Given the description of an element on the screen output the (x, y) to click on. 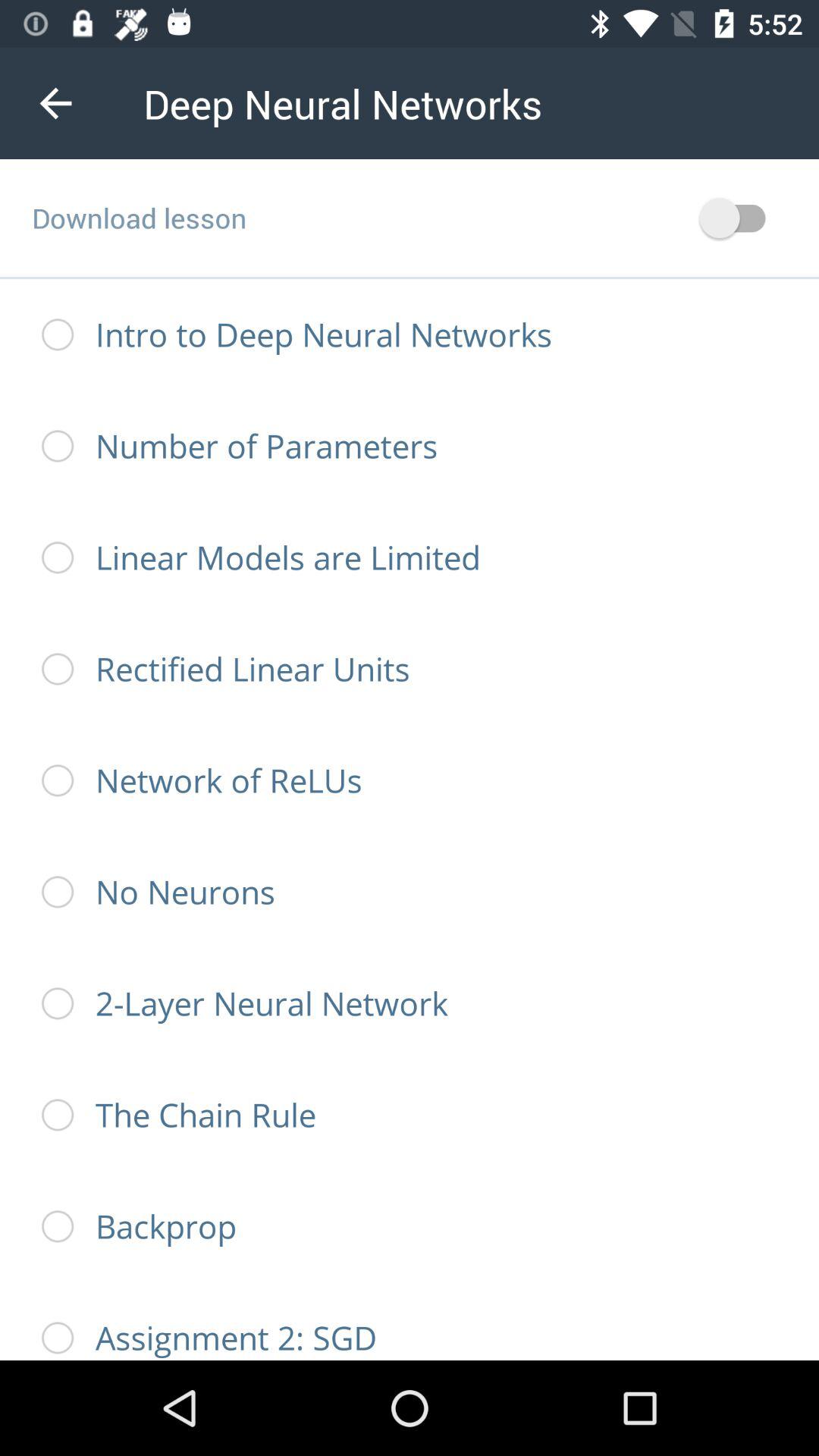
choose item to the left of the deep neural networks icon (55, 103)
